Given the description of an element on the screen output the (x, y) to click on. 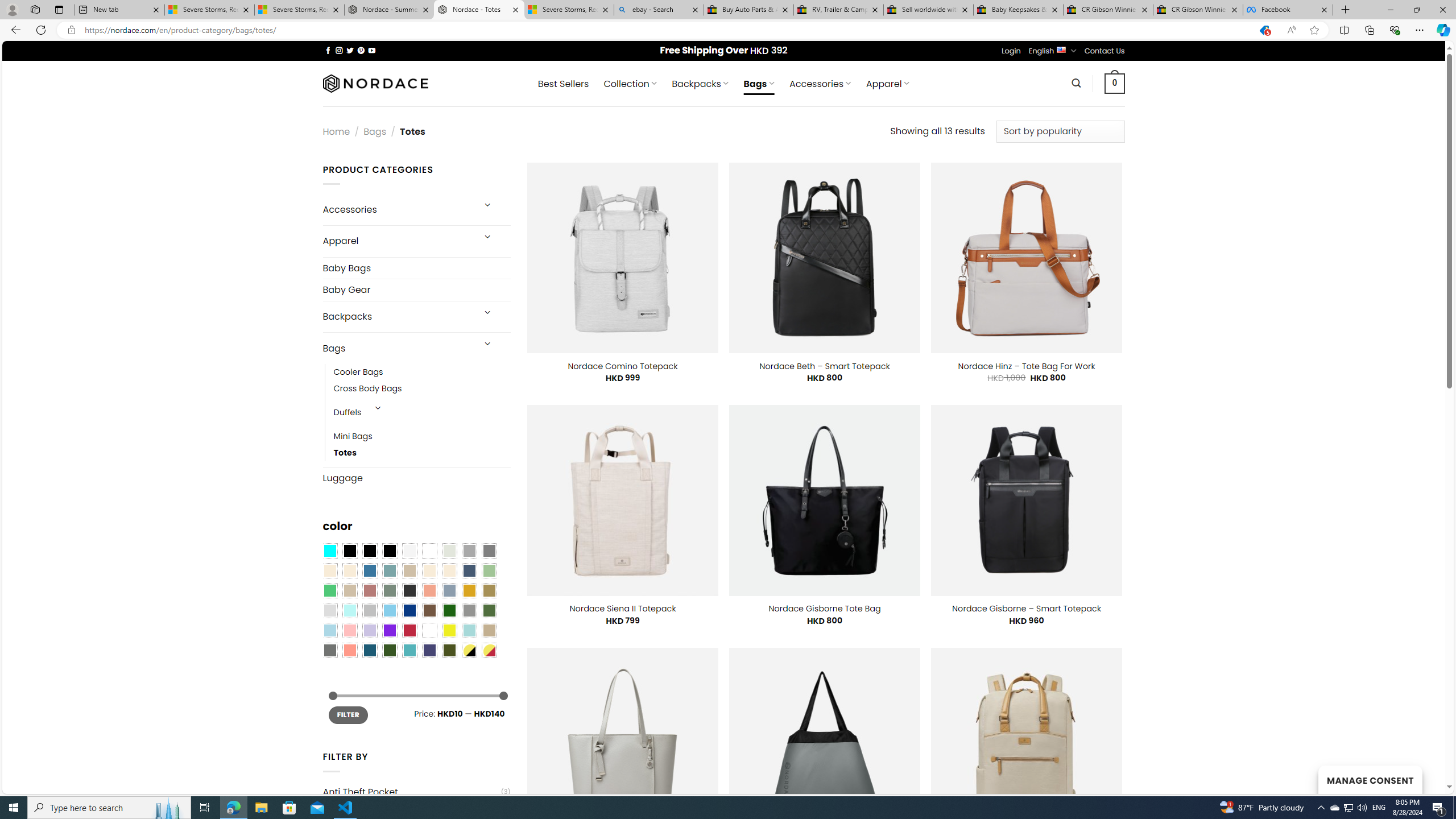
Nordace Gisborne Tote Bag (824, 608)
Accessories (397, 209)
Apparel (397, 241)
Aqua Blue (329, 550)
Rose (369, 590)
Anti Theft Pocket(3) (416, 791)
Yellow (449, 630)
Baby Gear (416, 289)
Army Green (449, 649)
